Given the description of an element on the screen output the (x, y) to click on. 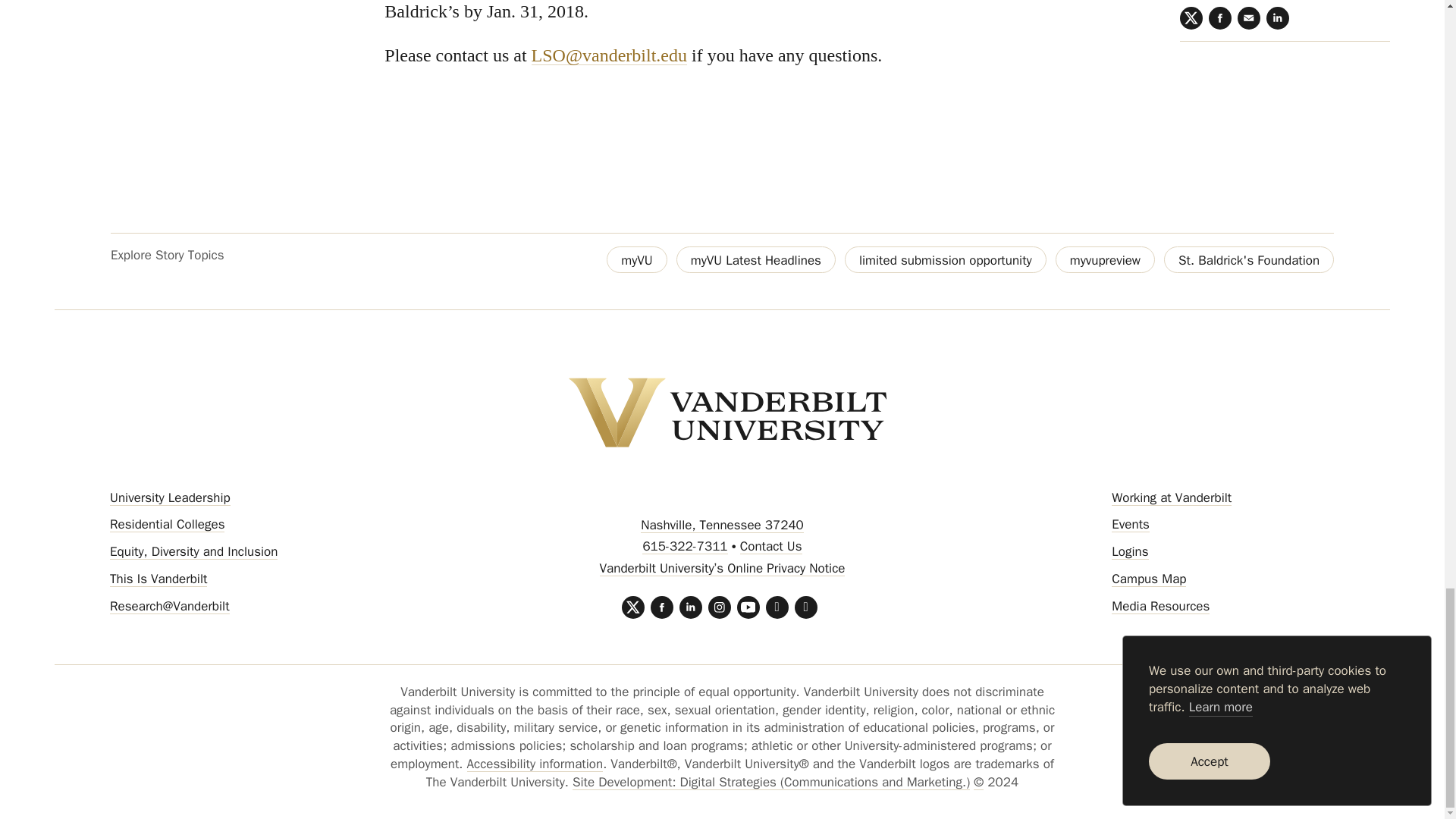
St. Baldrick's Foundation (1248, 259)
Residential Colleges (167, 524)
myvupreview (1104, 259)
Equity, Diversity and Inclusion (194, 551)
myVU (636, 259)
University Leadership (170, 497)
myVU Latest Headlines (756, 259)
limited submission opportunity (945, 259)
